Given the description of an element on the screen output the (x, y) to click on. 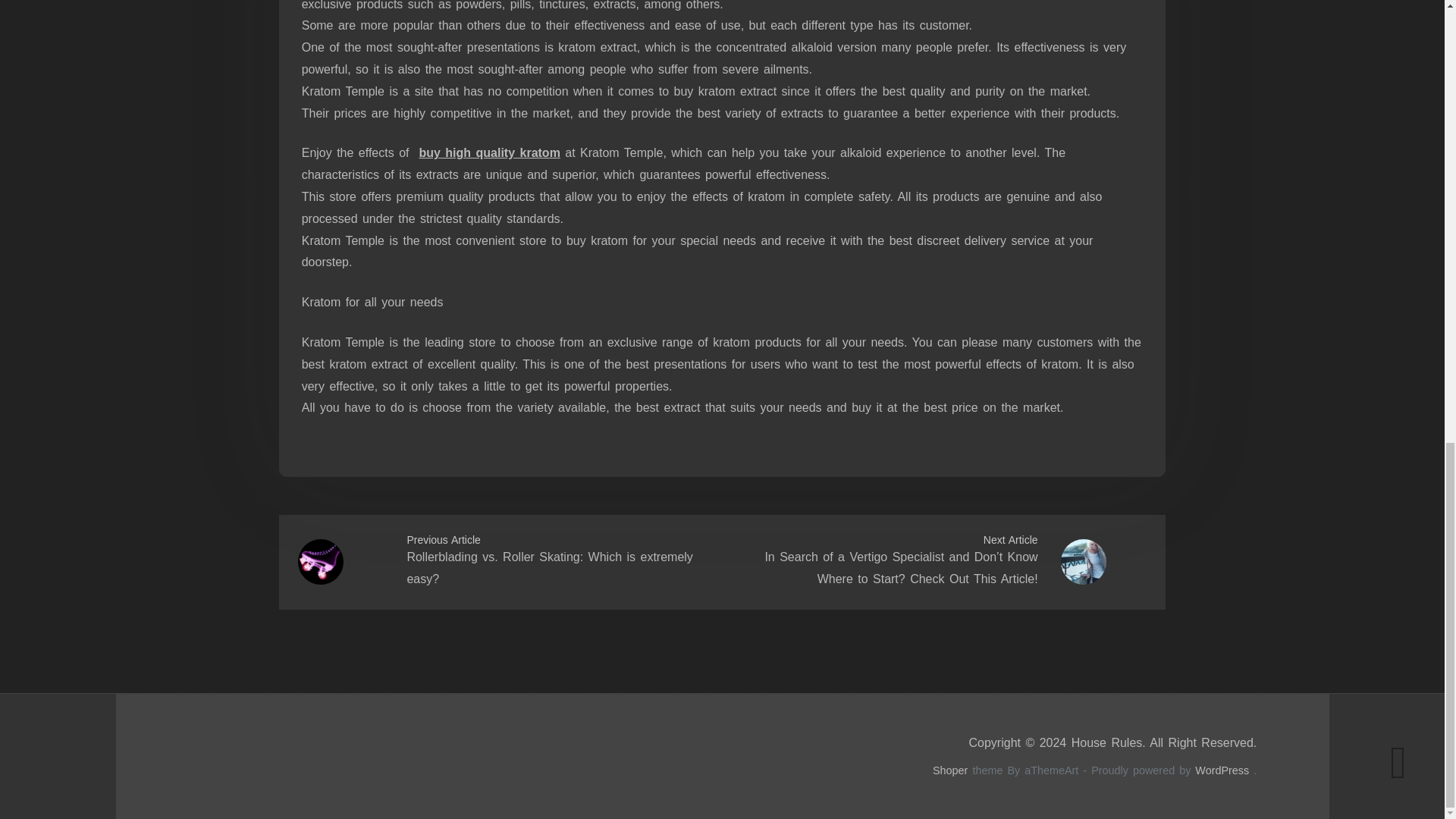
Rollerblading vs. Roller Skating: Which is extremely easy? (549, 567)
WordPress (1222, 770)
buy high quality kratom (489, 152)
Shoper (950, 770)
